Given the description of an element on the screen output the (x, y) to click on. 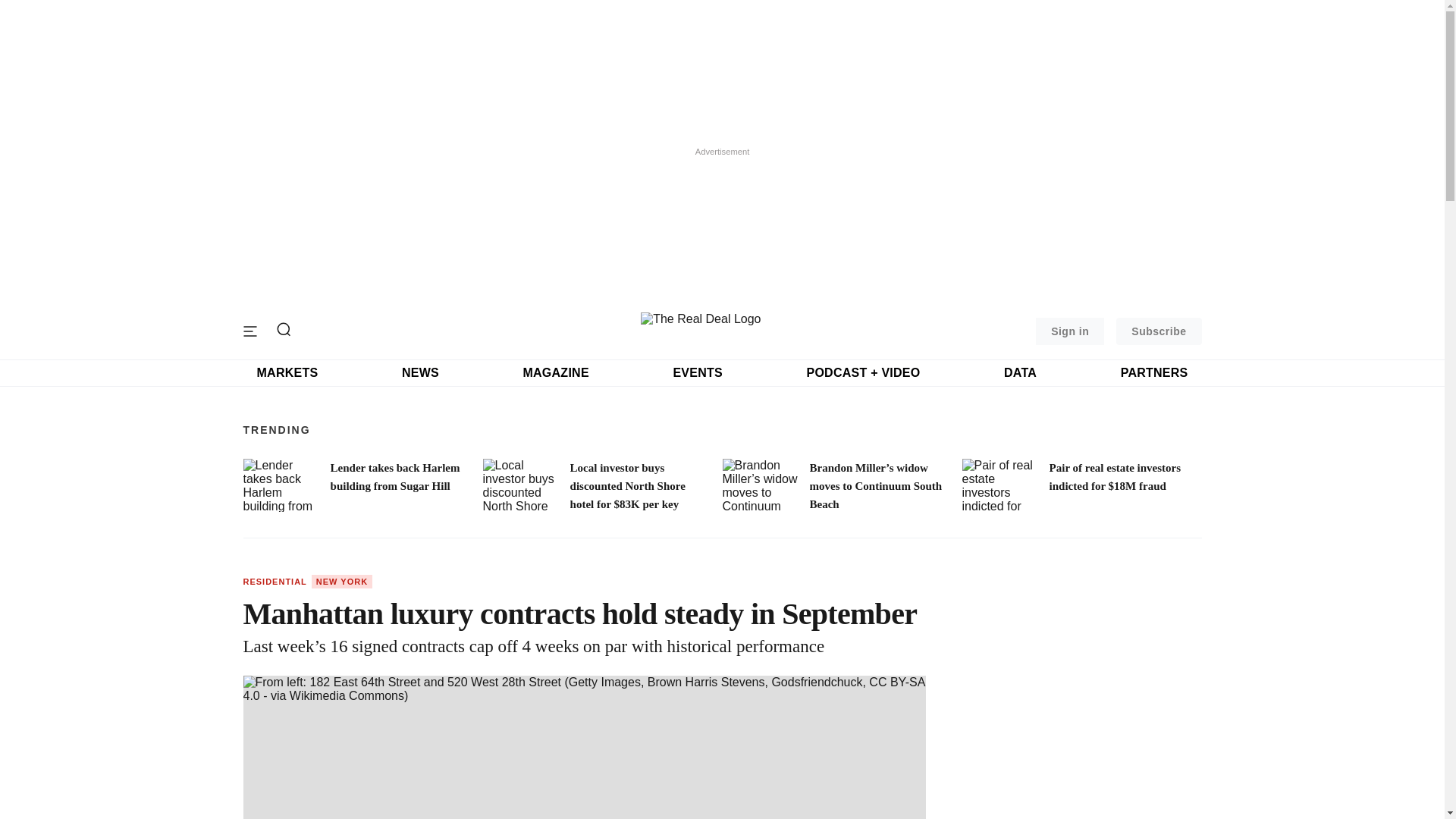
EVENTS (697, 373)
MARKETS (286, 373)
Sign in (1069, 330)
MAGAZINE (555, 373)
Subscribe (1158, 330)
NEWS (420, 373)
